Given the description of an element on the screen output the (x, y) to click on. 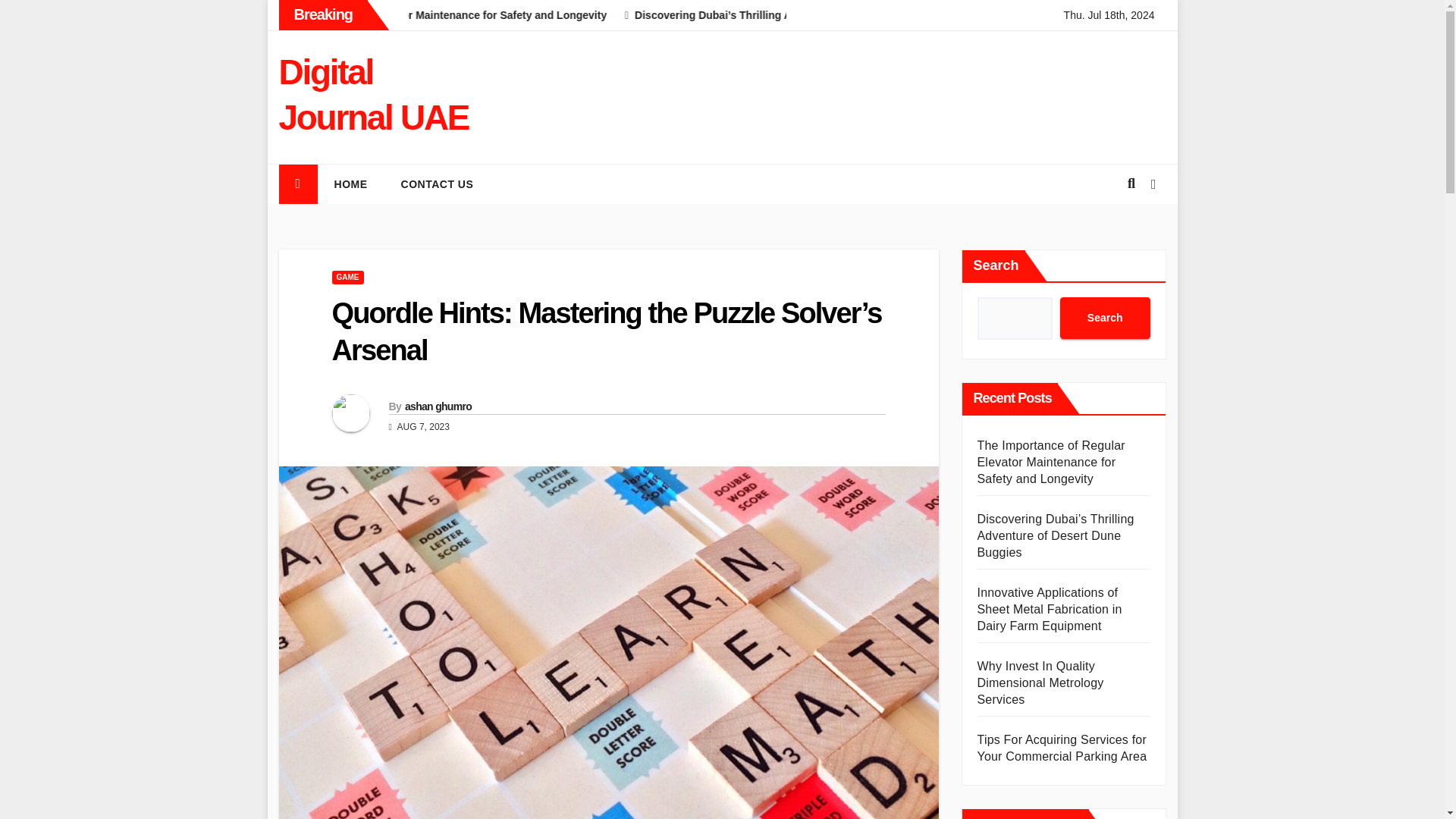
CONTACT US (437, 183)
Digital Journal UAE (373, 94)
Contact Us (437, 183)
ashan ghumro (437, 406)
GAME (347, 277)
HOME (350, 183)
Home (350, 183)
